Given the description of an element on the screen output the (x, y) to click on. 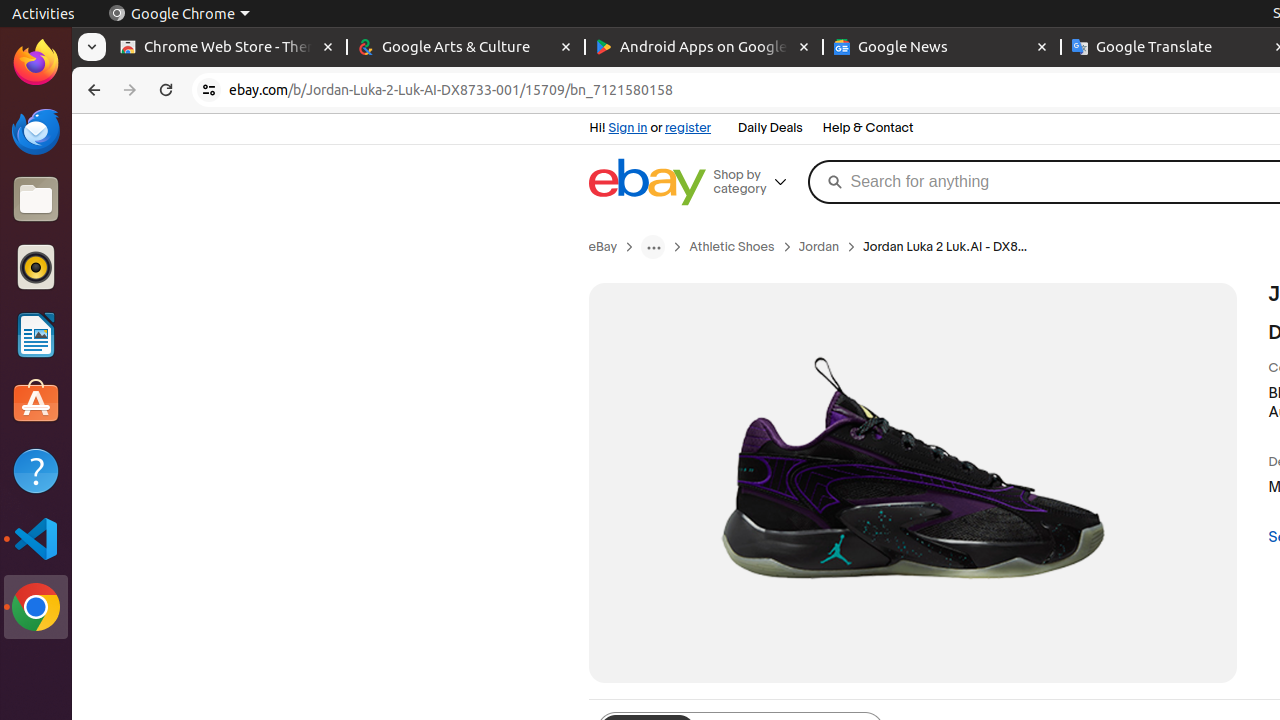
Google Chrome Element type: push-button (36, 607)
Back Element type: push-button (91, 90)
Help & Contact Element type: link (868, 129)
Jordan Element type: link (819, 247)
Forward Element type: push-button (130, 90)
